Given the description of an element on the screen output the (x, y) to click on. 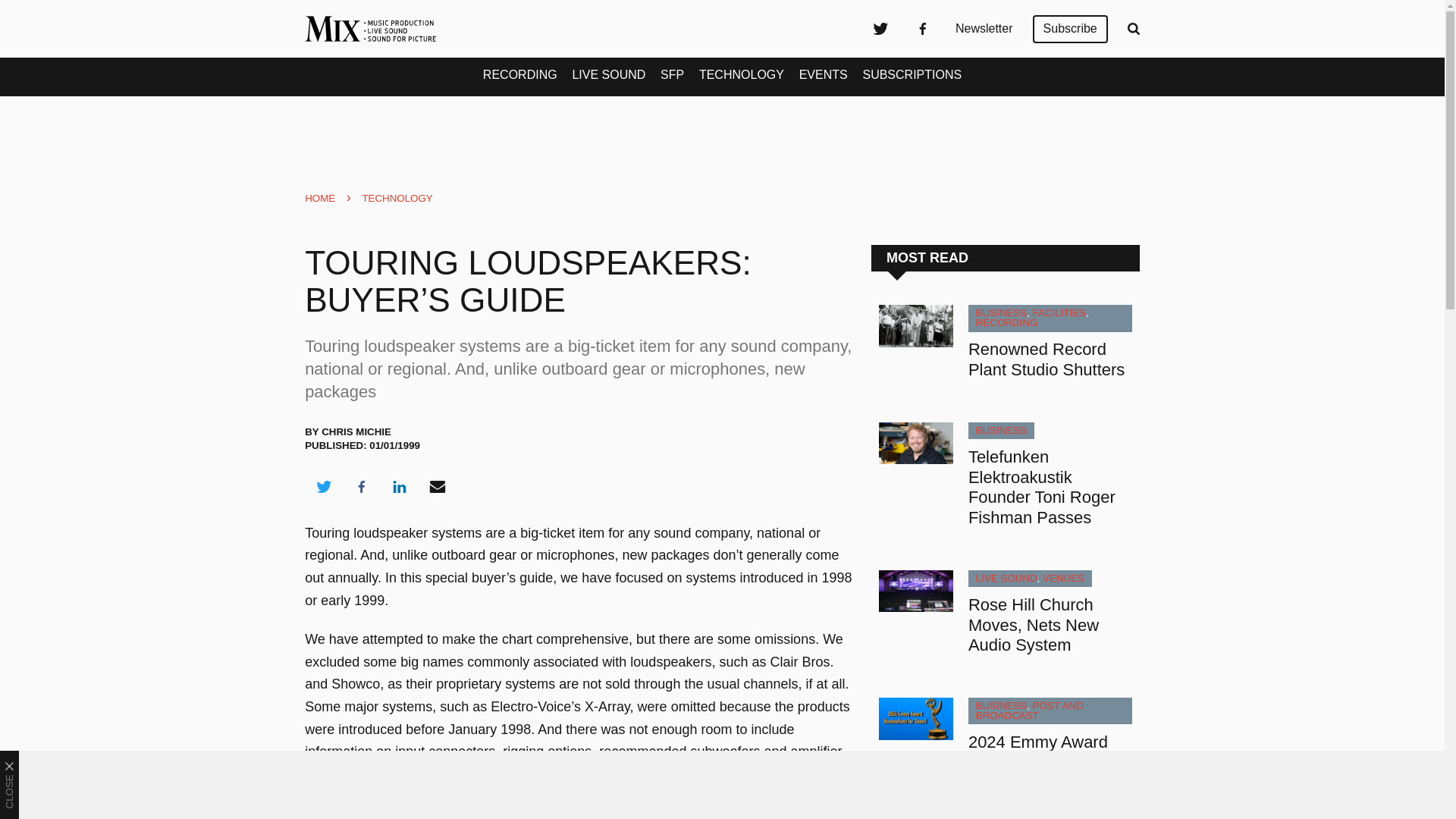
Share via Email (438, 486)
Share on LinkedIn (399, 486)
Share on Facebook (361, 486)
Share on Twitter (323, 486)
